Given the description of an element on the screen output the (x, y) to click on. 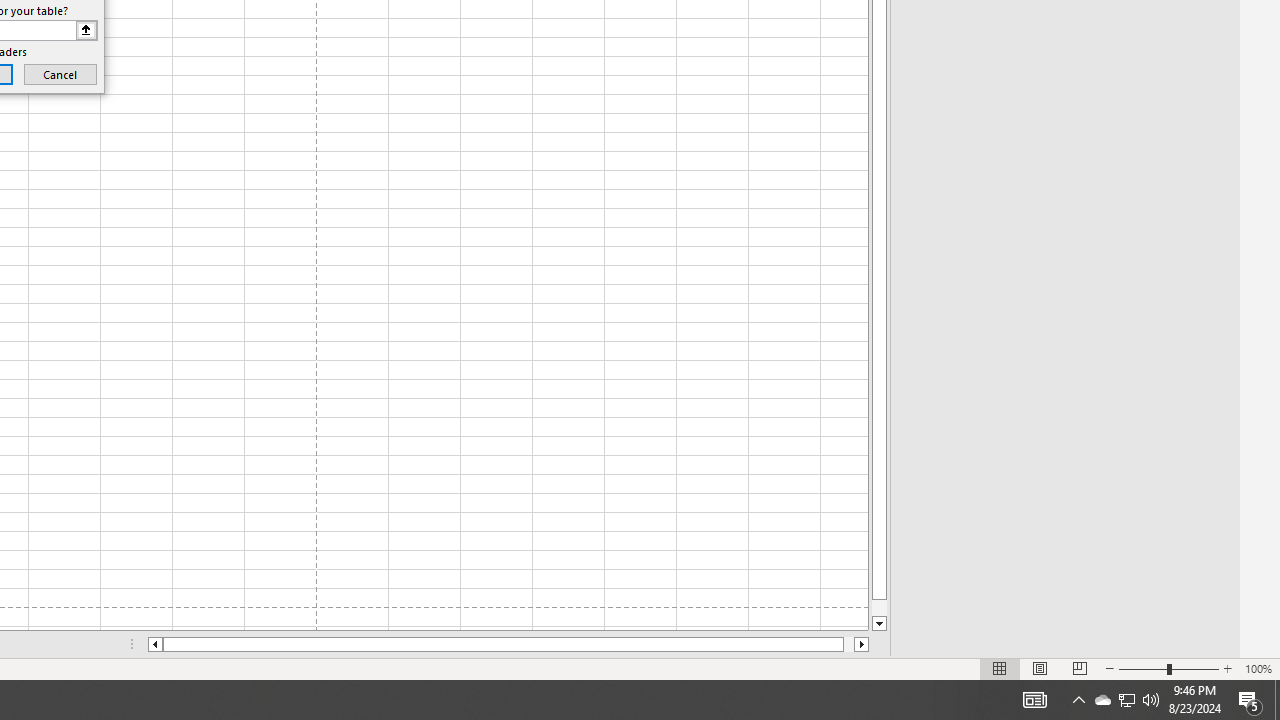
Column right (861, 644)
Zoom (1168, 668)
Line down (879, 624)
Page down (879, 607)
Zoom In (1227, 668)
Class: NetUIScrollBar (507, 644)
Zoom Out (1142, 668)
Page Break Preview (1079, 668)
Column left (153, 644)
Page right (848, 644)
